Given the description of an element on the screen output the (x, y) to click on. 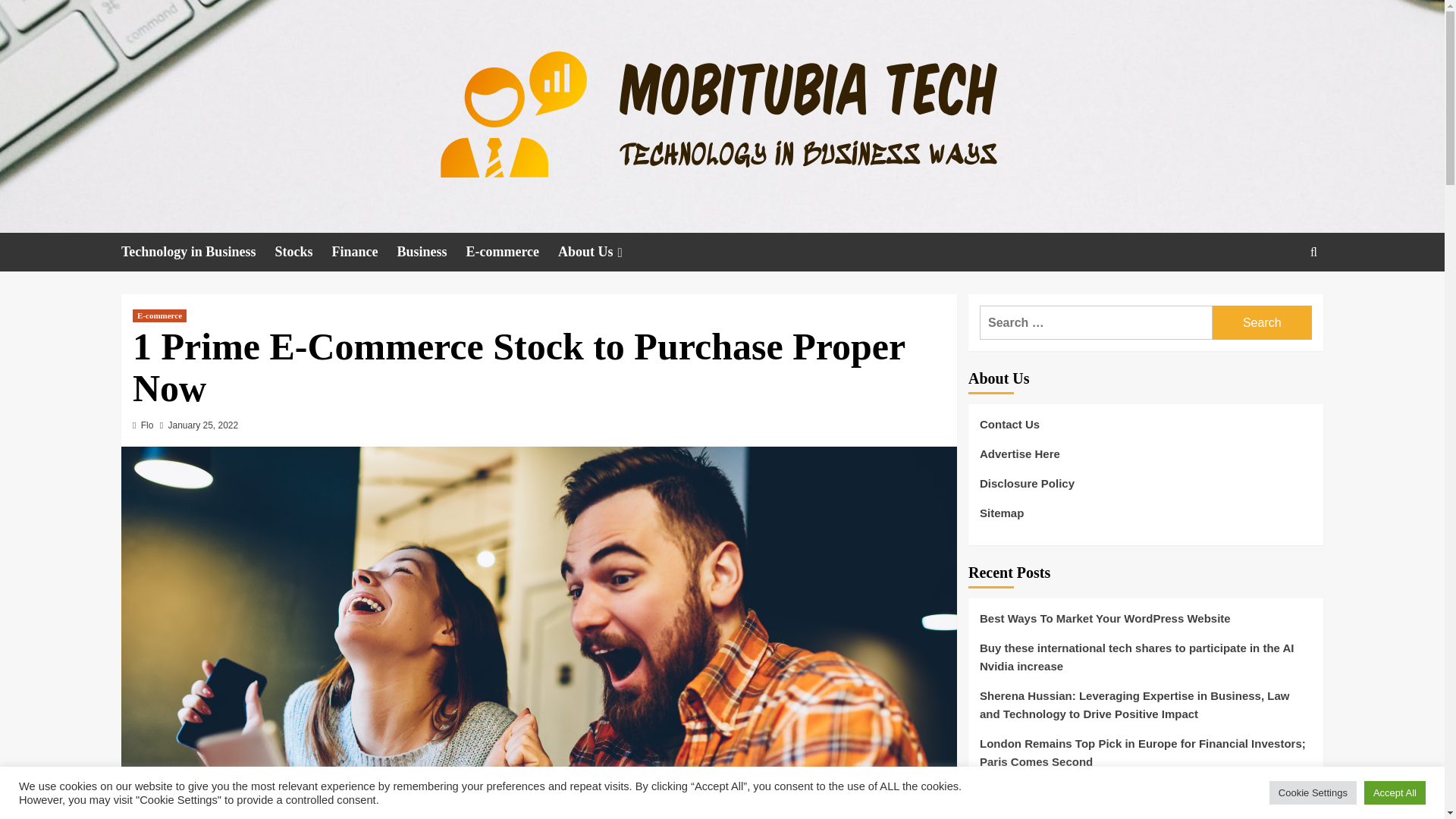
Search (1278, 298)
Search (1261, 322)
Flo (147, 425)
Business (430, 251)
E-commerce (159, 315)
Finance (363, 251)
About Us (601, 251)
Search (1261, 322)
Technology in Business (197, 251)
